Given the description of an element on the screen output the (x, y) to click on. 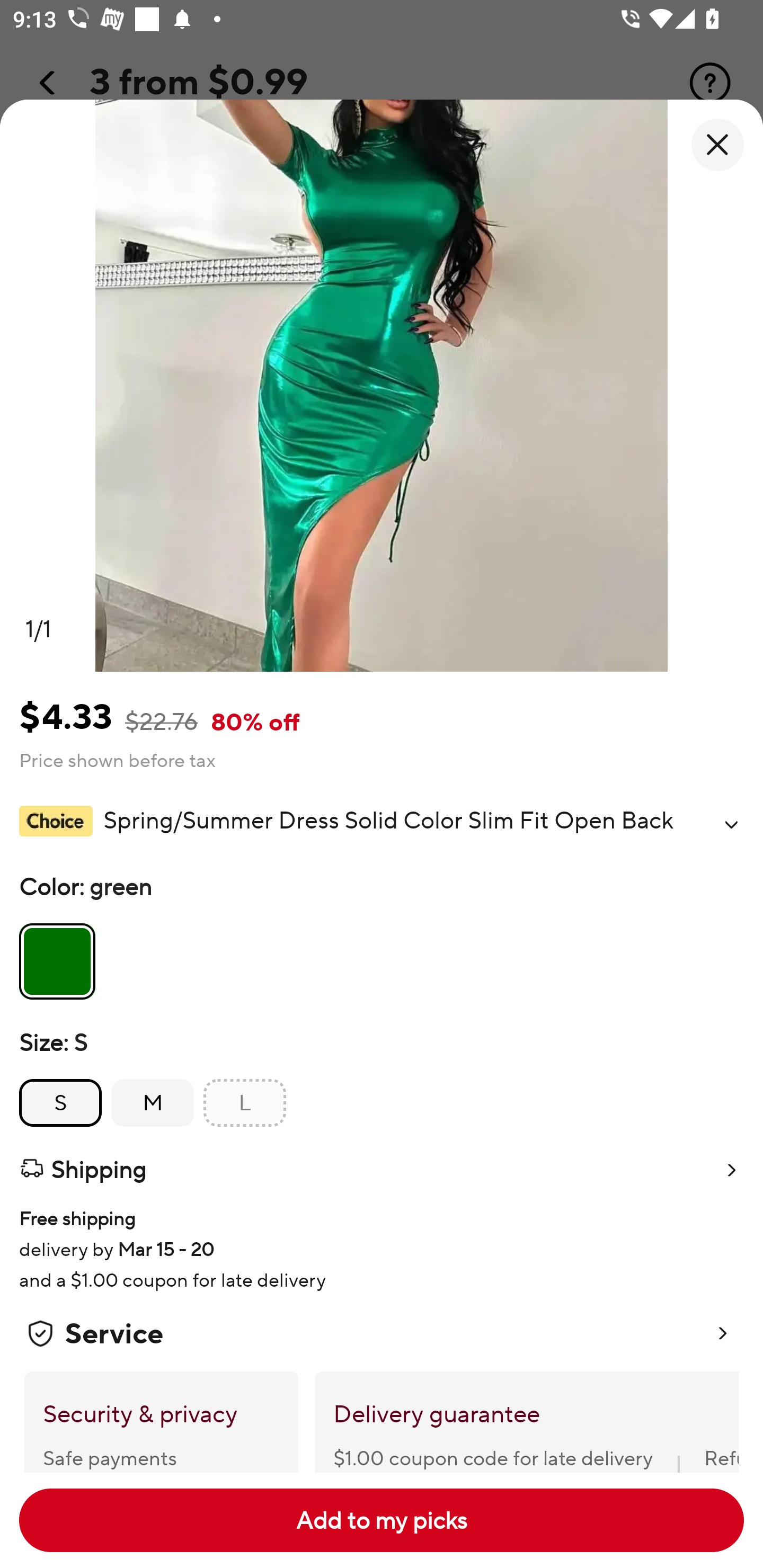
close  (717, 144)
 (730, 824)
S (60, 1102)
M (152, 1102)
L (244, 1102)
Add to my picks (381, 1520)
